Given the description of an element on the screen output the (x, y) to click on. 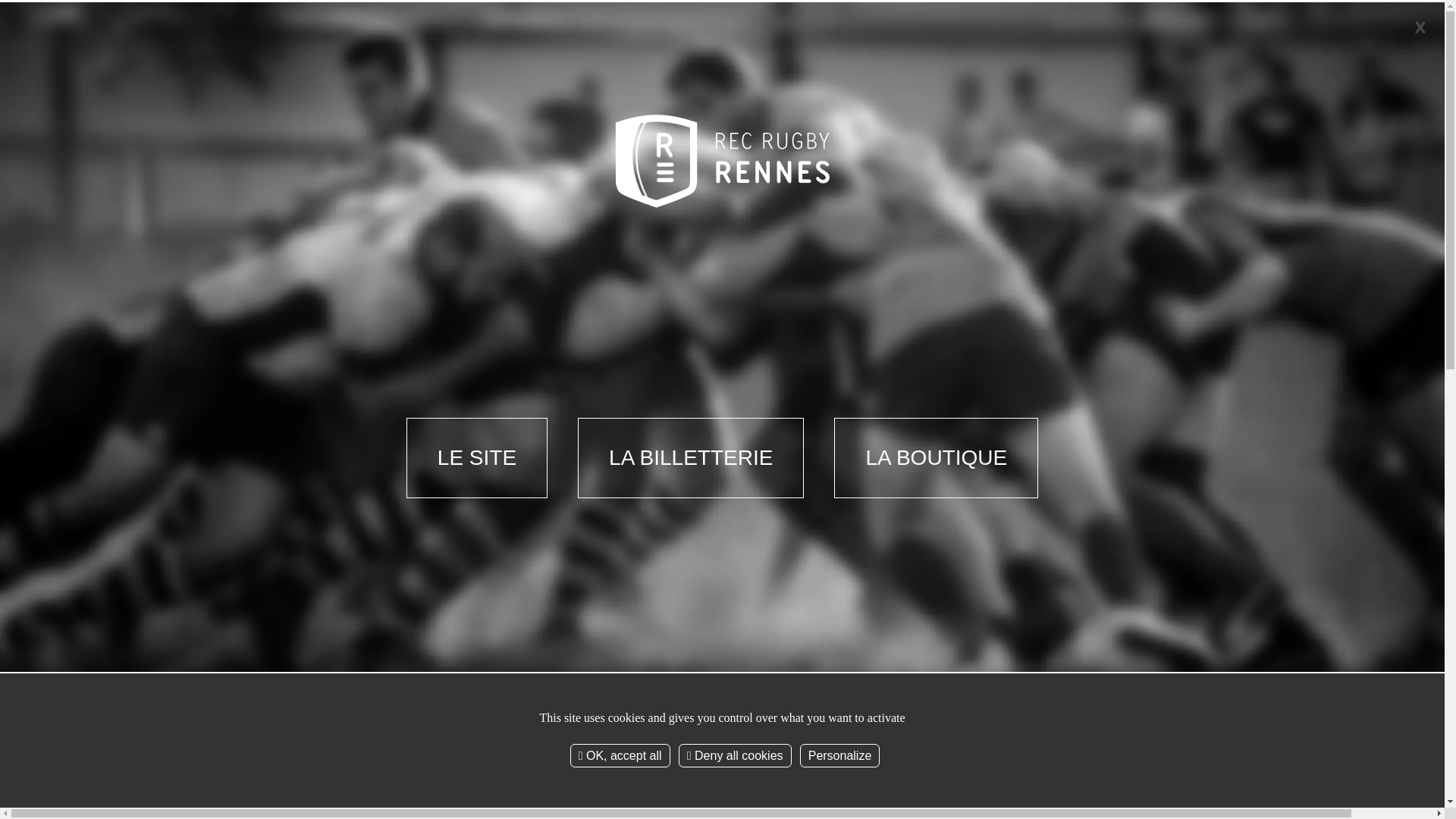
LE SITE Element type: text (476, 457)
Personalize Element type: text (840, 755)
Formation Element type: text (635, 161)
Partenaires Element type: text (774, 161)
Deny all cookies Element type: text (734, 755)
Billetterie Element type: text (912, 161)
Boutique Element type: text (1050, 161)
X Element type: text (1420, 26)
Accueil Element type: text (304, 362)
Nationale 2 Element type: text (497, 161)
Le club Element type: text (358, 161)
LA BOUTIQUE Element type: text (936, 457)
LA BILLETTERIE Element type: text (690, 457)
OK, accept all Element type: text (620, 755)
